Given the description of an element on the screen output the (x, y) to click on. 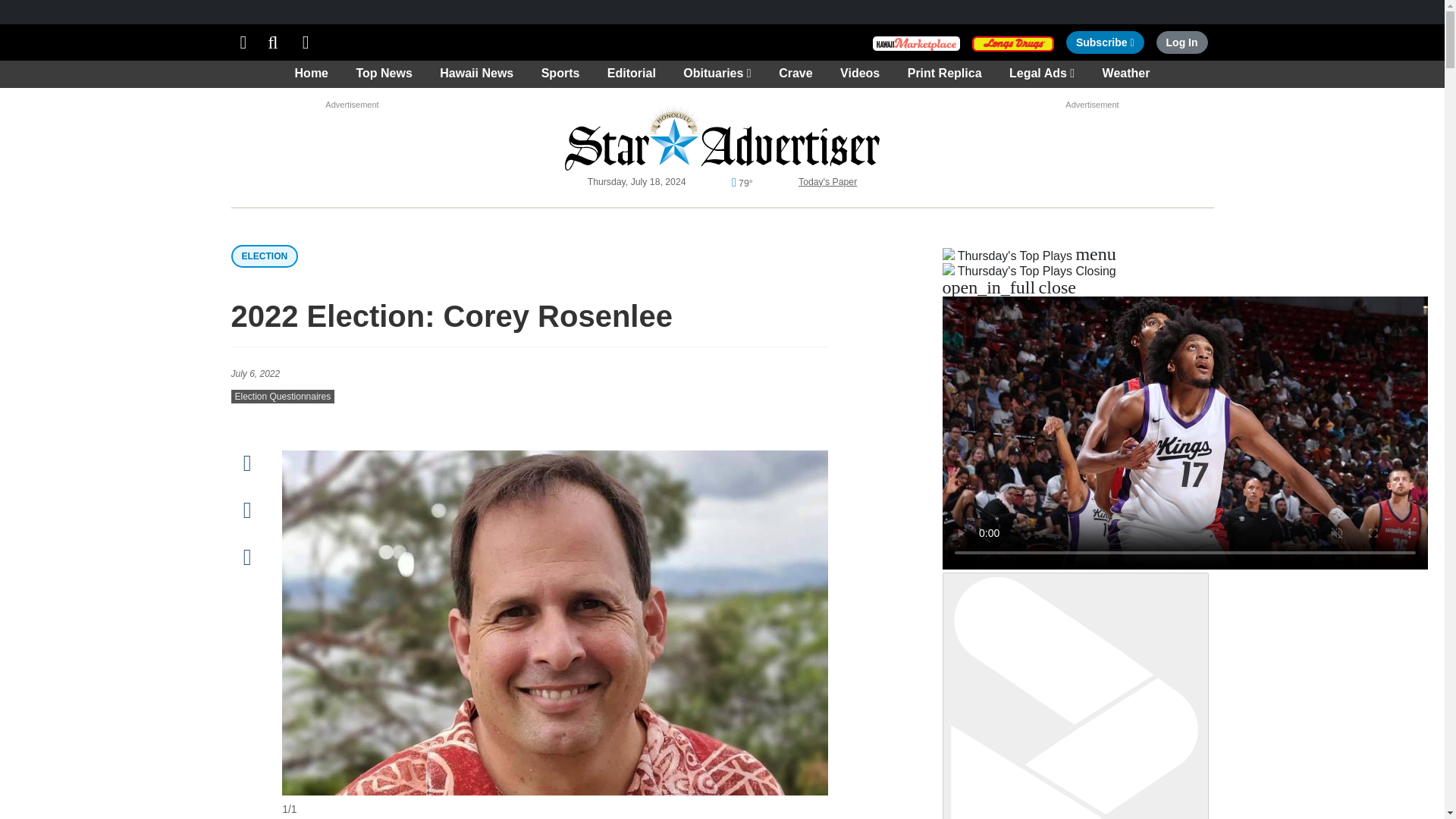
Log In (1182, 42)
3rd party ad content (351, 127)
Search (272, 42)
Print Replica (1104, 42)
Opens in a new tab (306, 42)
Opens in a new tab (915, 41)
Sections (1013, 41)
